Given the description of an element on the screen output the (x, y) to click on. 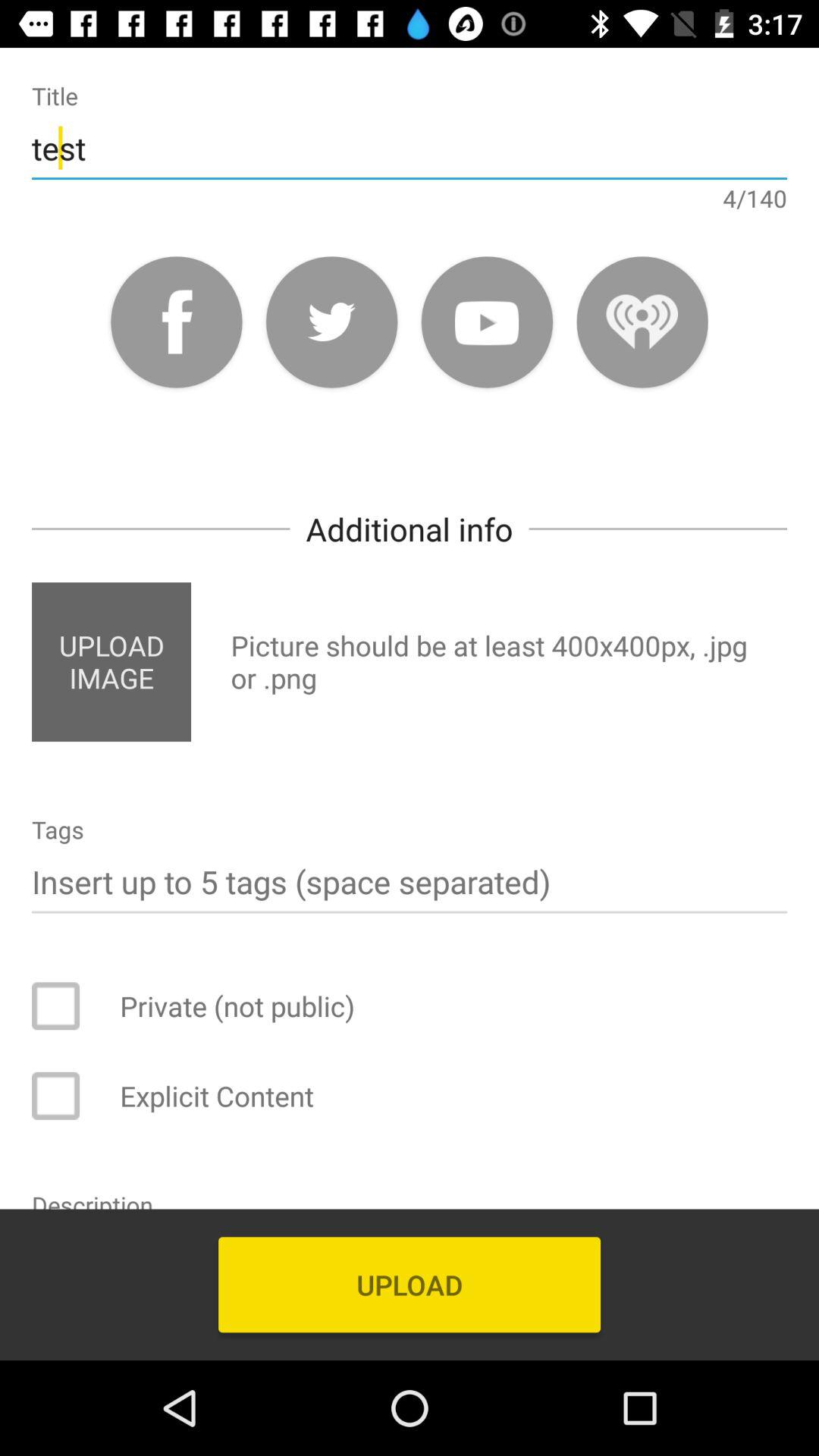
jump to the upload image (111, 661)
